Given the description of an element on the screen output the (x, y) to click on. 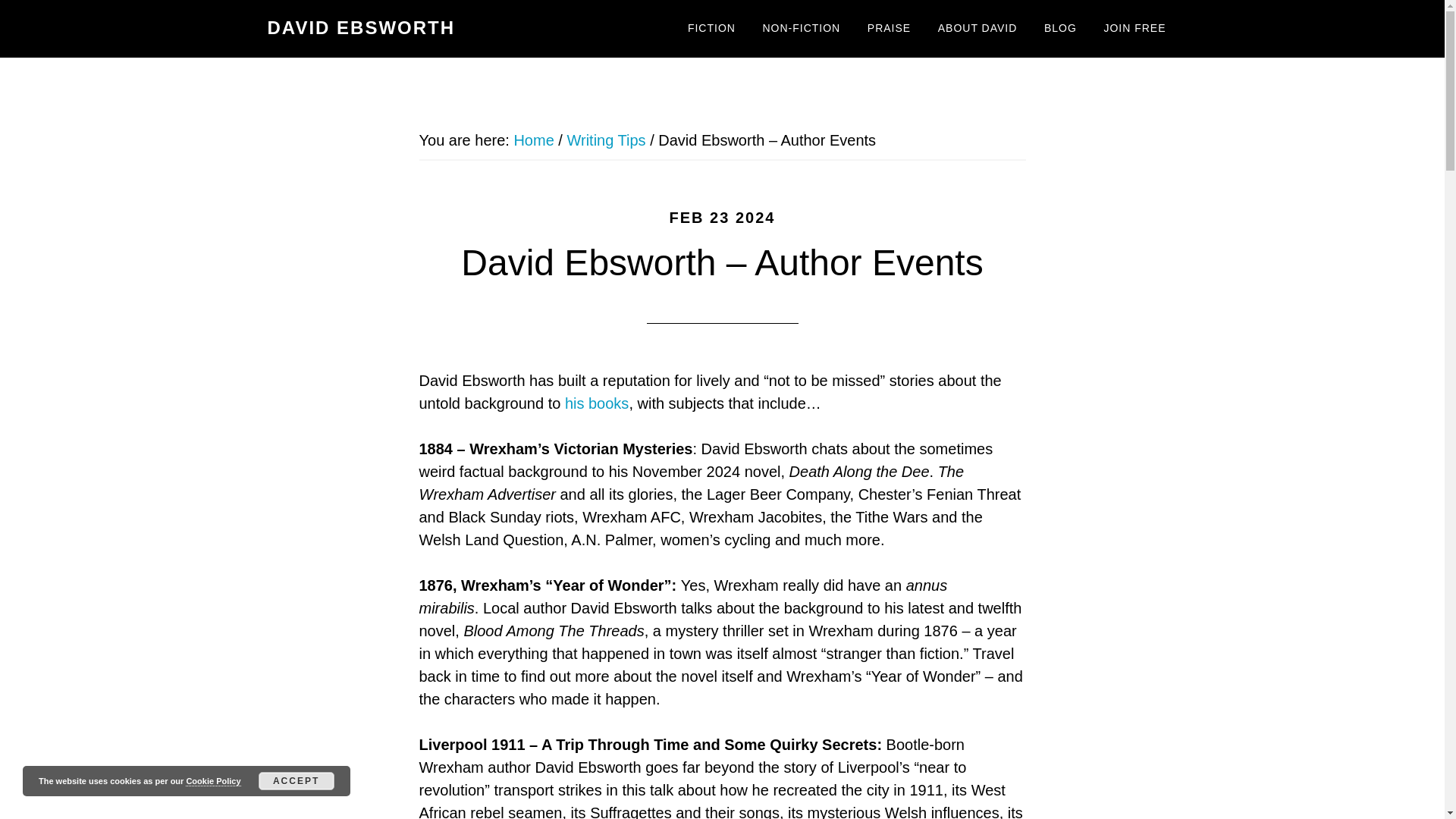
PRAISE (888, 28)
BLOG (1059, 28)
NON-FICTION (801, 28)
ABOUT DAVID (977, 28)
FICTION (711, 28)
Inner Circle Newsletter (1134, 28)
JOIN FREE (1134, 28)
Writing Tips (605, 139)
Fiction Books (711, 28)
David Ebsworth Novels (596, 402)
his books (596, 402)
Home (533, 139)
DAVID EBSWORTH (360, 27)
